Given the description of an element on the screen output the (x, y) to click on. 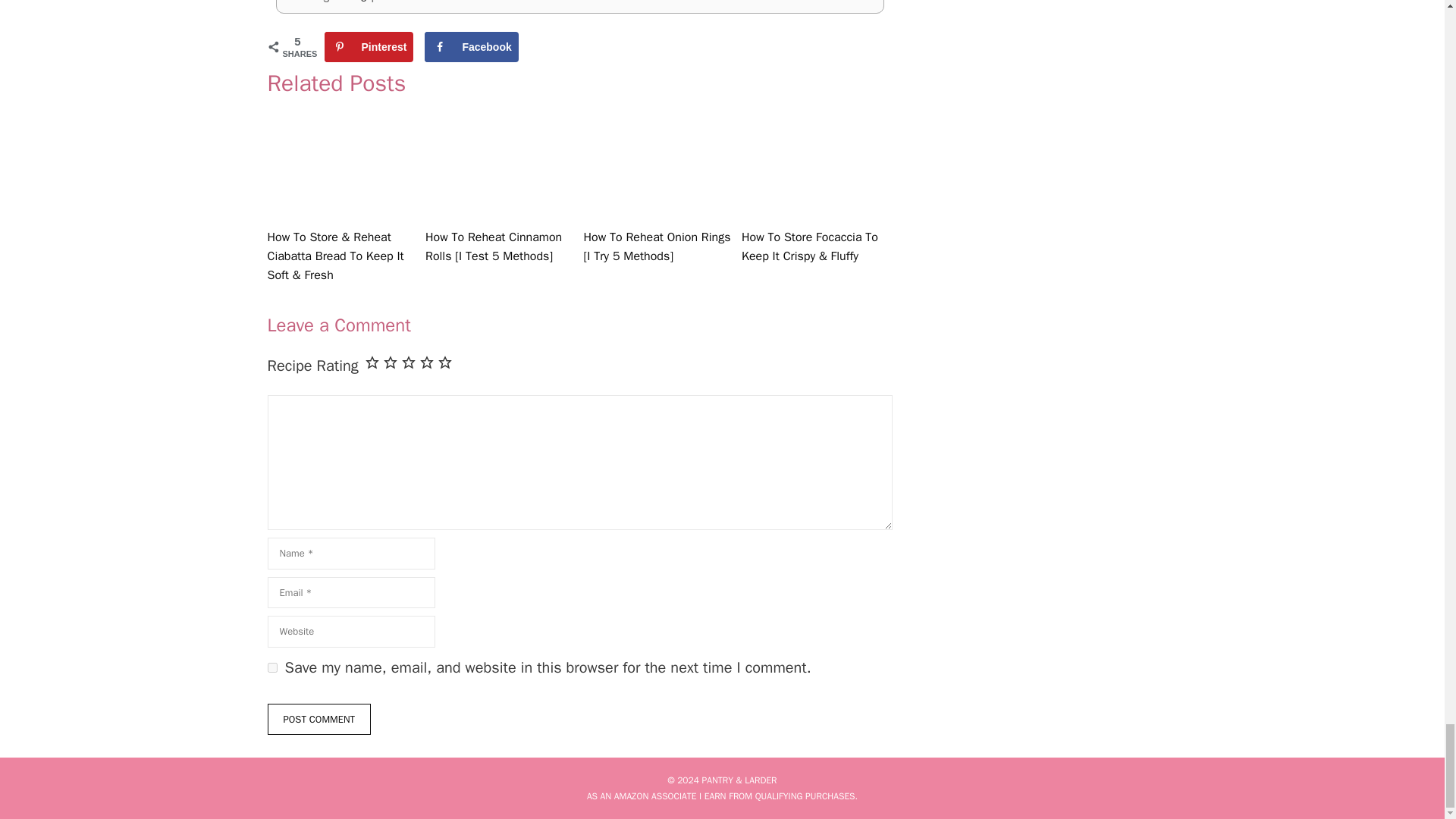
yes (271, 667)
Share on Facebook (471, 46)
Post Comment (318, 719)
Save to Pinterest (368, 46)
